Given the description of an element on the screen output the (x, y) to click on. 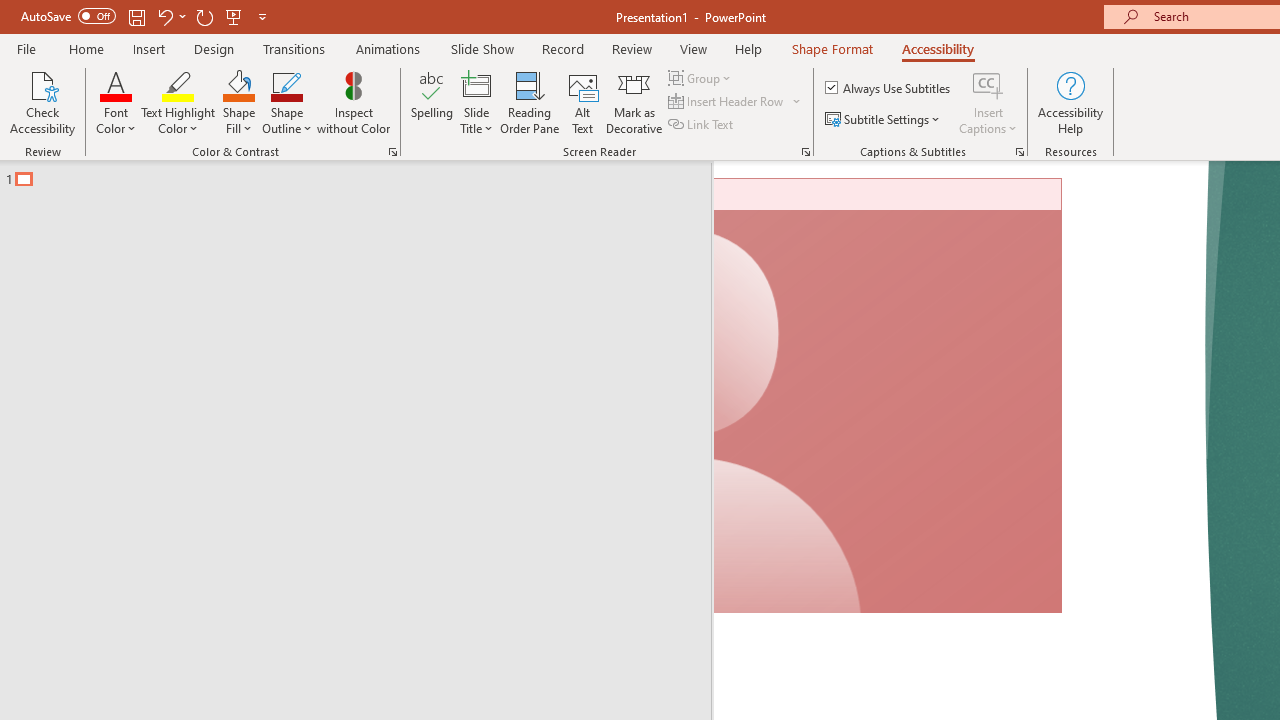
Font Color Red (116, 84)
Captions & Subtitles (1019, 151)
Insert (149, 48)
Quick Access Toolbar (145, 16)
Transitions (294, 48)
Customize Quick Access Toolbar (262, 15)
Shape Outline Blue, Accent 1 (286, 84)
Slide Title (476, 102)
Outline (364, 174)
Design (214, 48)
Group (701, 78)
Insert Captions (988, 84)
Animations (388, 48)
File Tab (26, 48)
